Given the description of an element on the screen output the (x, y) to click on. 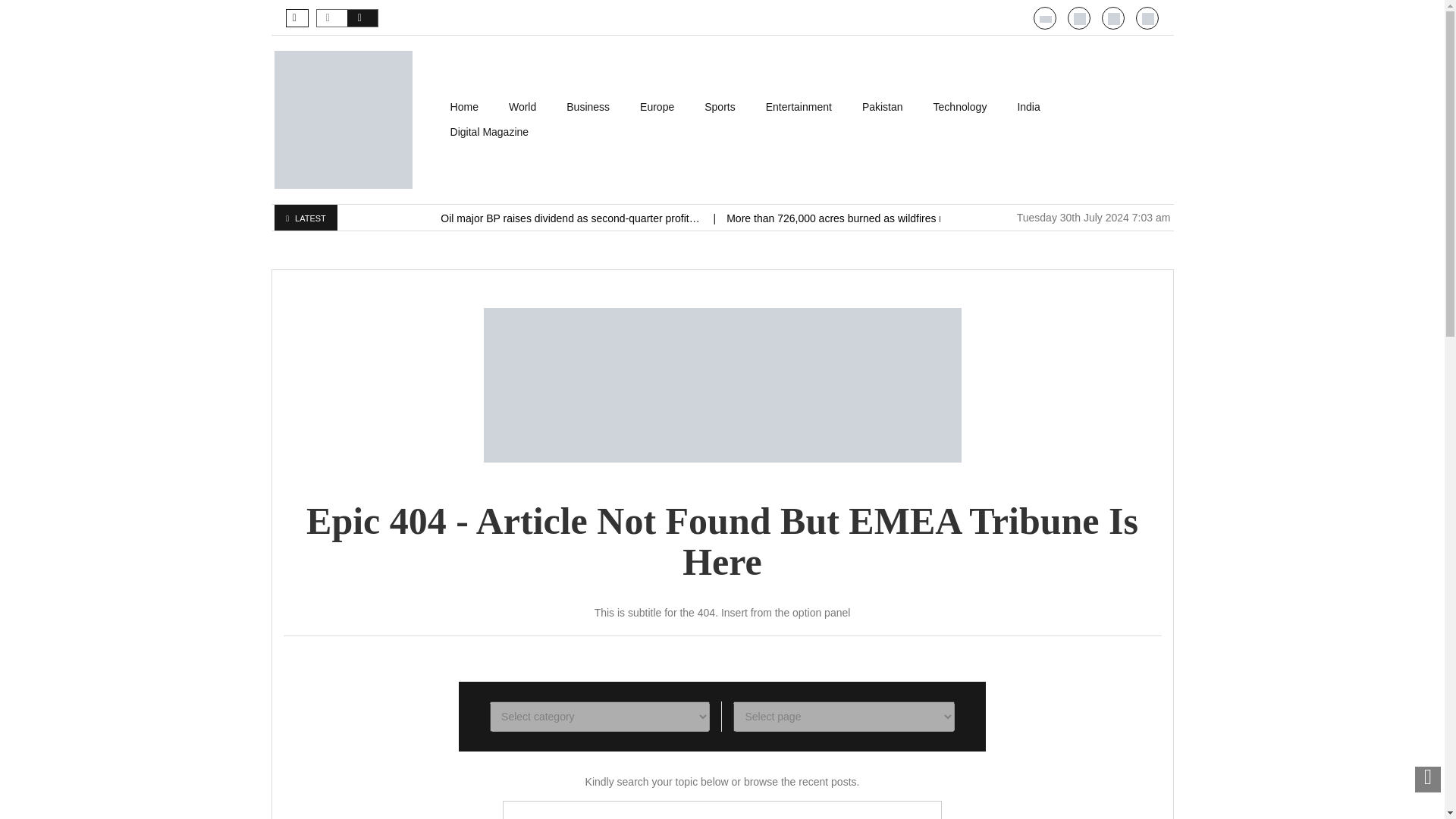
World (522, 107)
Entertainment (799, 107)
India (1027, 107)
Europe (656, 107)
Digital Magazine (489, 131)
Skip to content (470, 102)
Sports (718, 107)
Home (464, 107)
Business (587, 107)
Call Us (1080, 19)
Facebook (1147, 19)
Technology (960, 107)
Pakistan (882, 107)
Skip to content (470, 102)
Twitter (1113, 19)
